Given the description of an element on the screen output the (x, y) to click on. 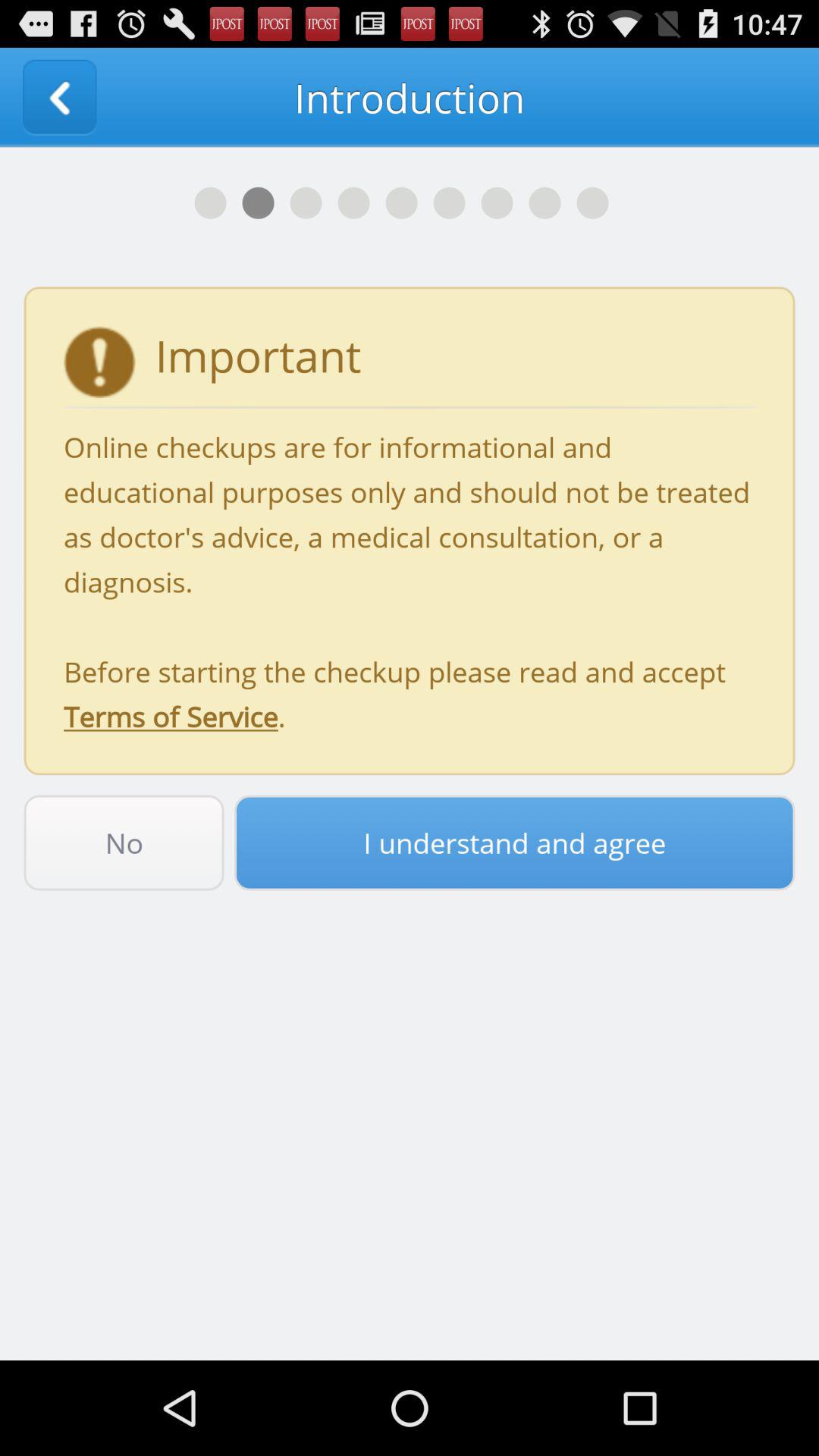
scroll until online checkups are item (409, 581)
